Given the description of an element on the screen output the (x, y) to click on. 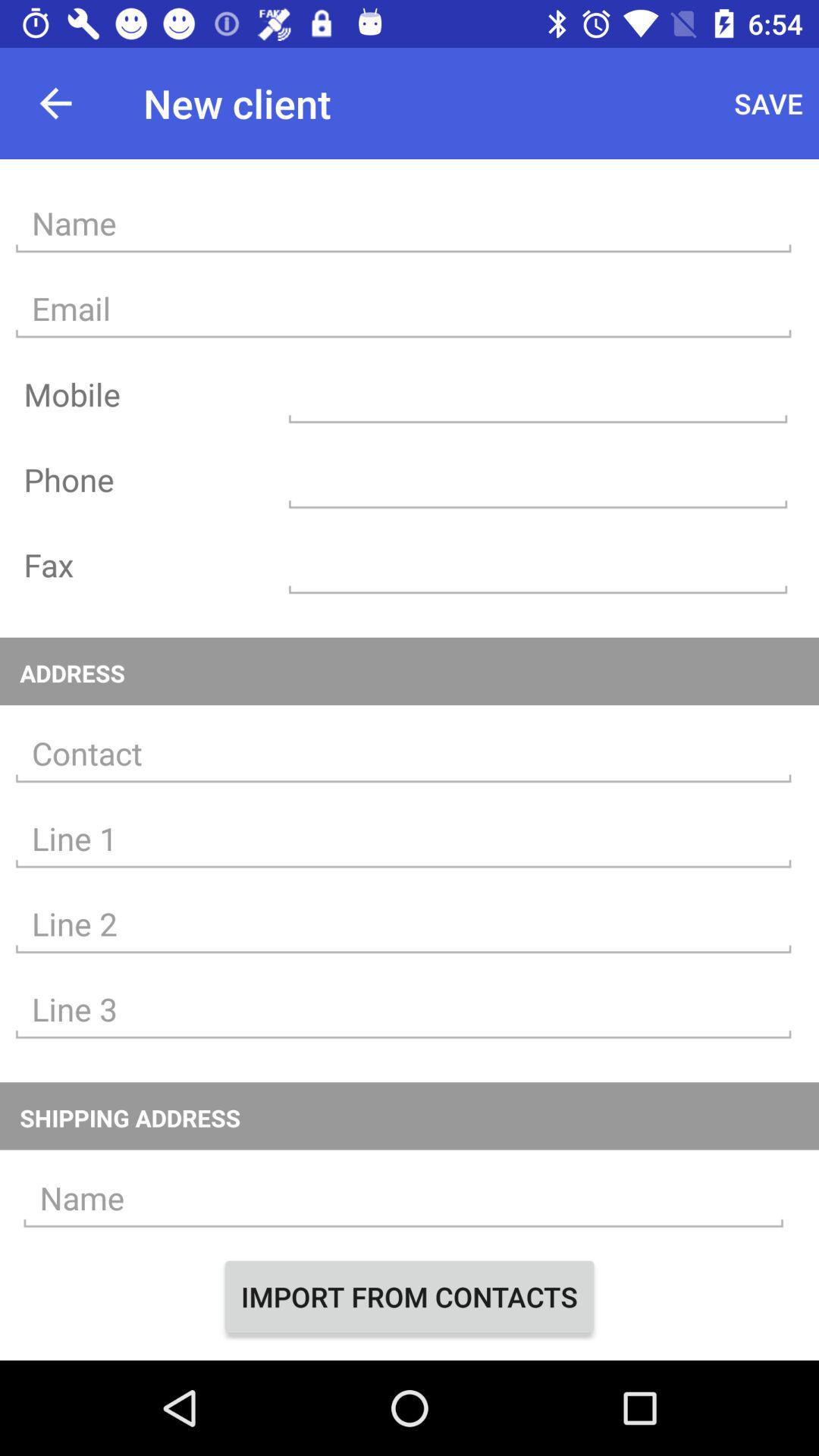
enter email (403, 308)
